Given the description of an element on the screen output the (x, y) to click on. 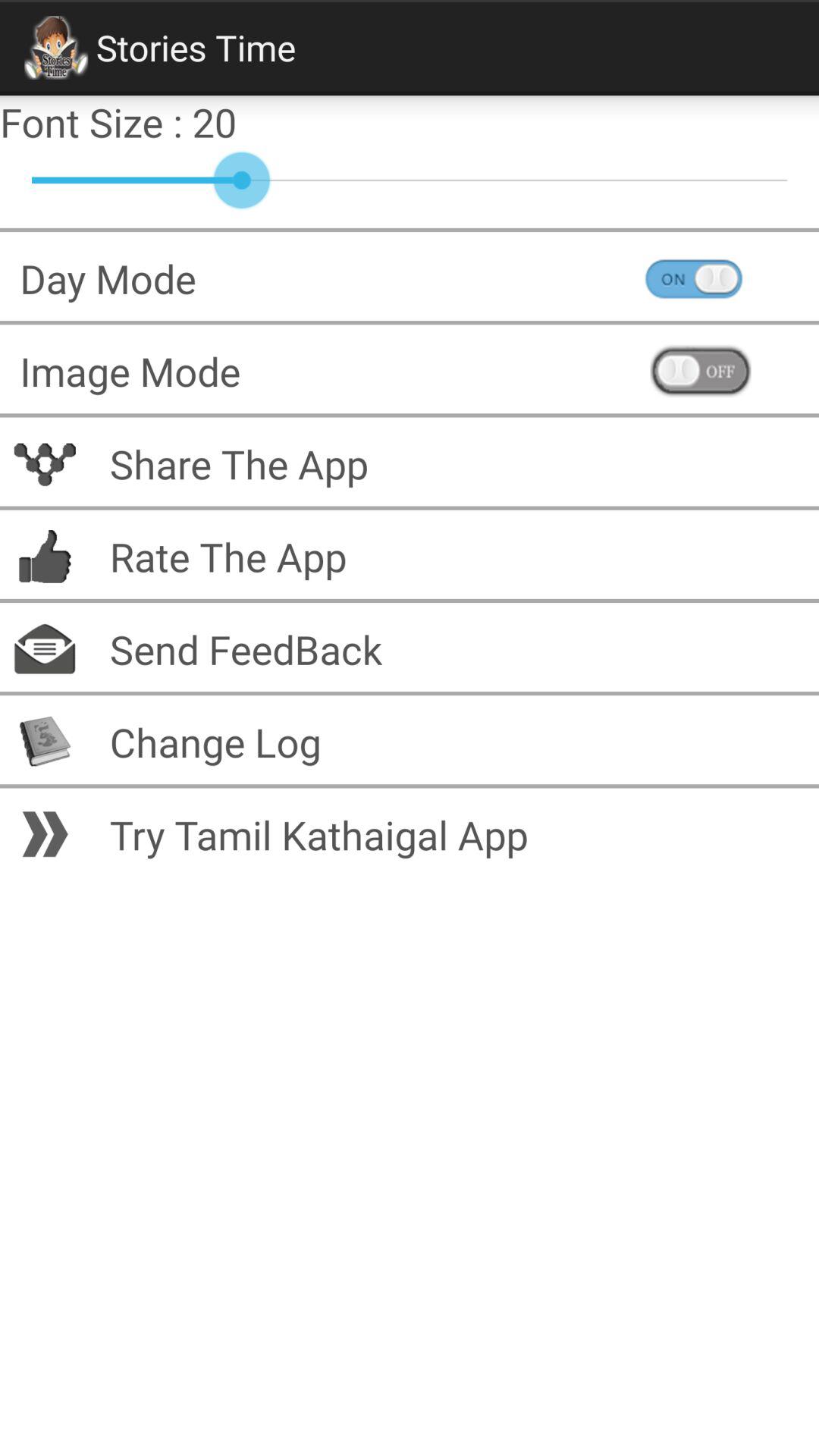
jump until try tamil kathaigal item (454, 834)
